Given the description of an element on the screen output the (x, y) to click on. 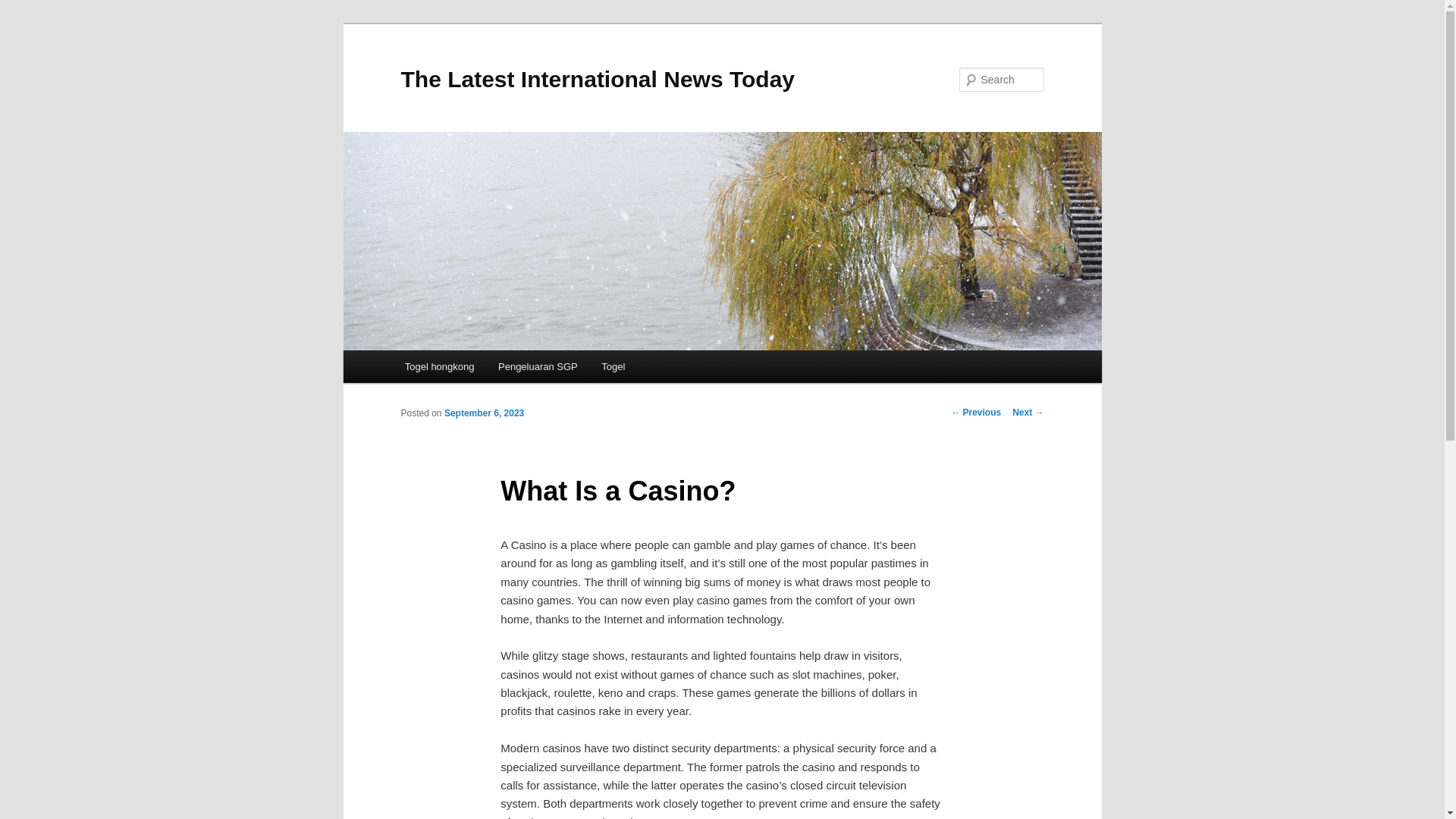
Pengeluaran SGP (537, 366)
September 6, 2023 (484, 412)
Togel (613, 366)
The Latest International News Today (597, 78)
Search (24, 8)
Togel hongkong (439, 366)
2:14 pm (484, 412)
